Given the description of an element on the screen output the (x, y) to click on. 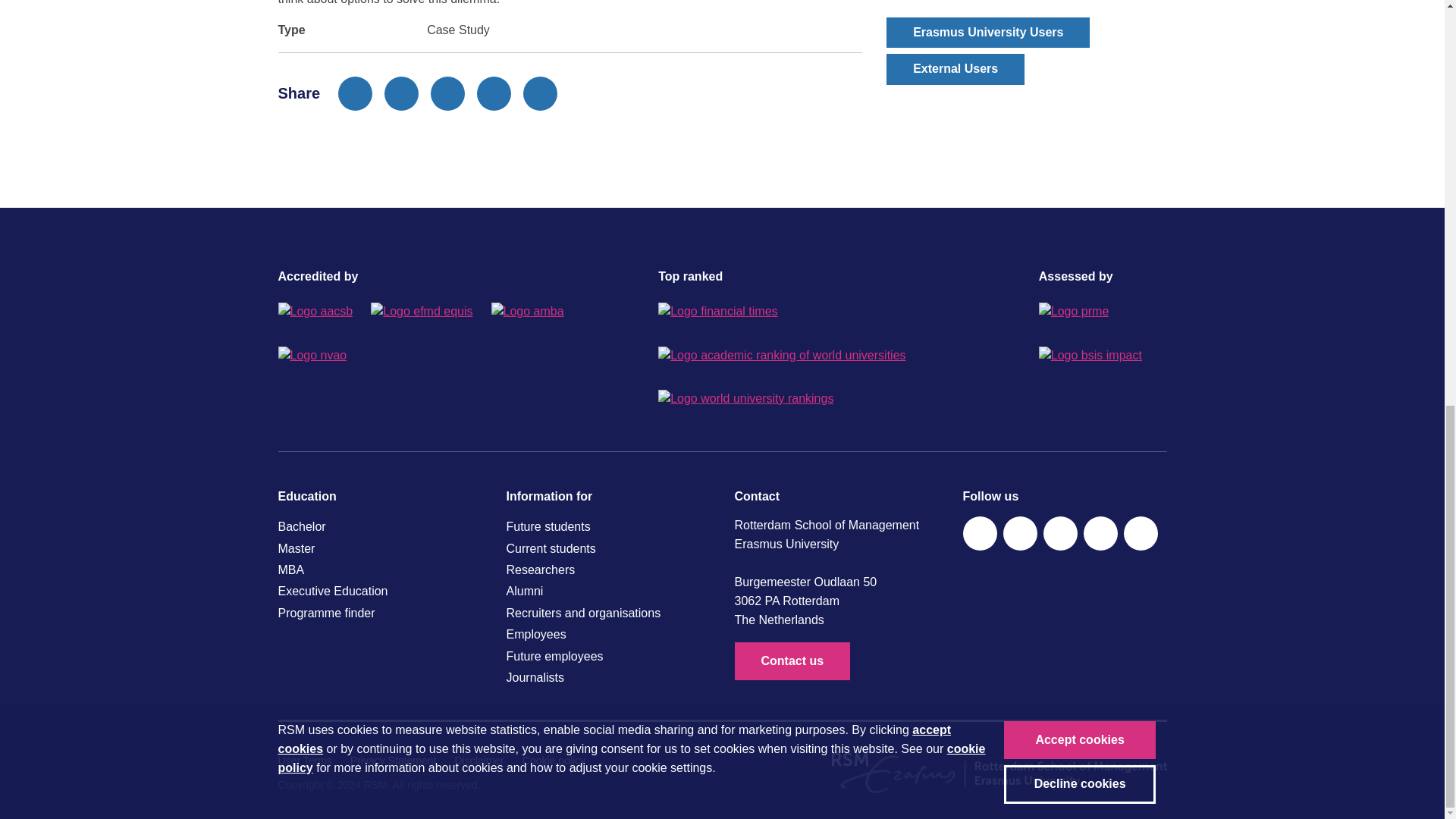
MBA (379, 569)
Email this (494, 93)
Share this on LinkedIn (447, 93)
Share this on Twitter (401, 93)
Executive Education (379, 590)
Master (379, 547)
Bachelor (379, 526)
Programme finder (379, 613)
Share this on Facebook (354, 93)
